Given the description of an element on the screen output the (x, y) to click on. 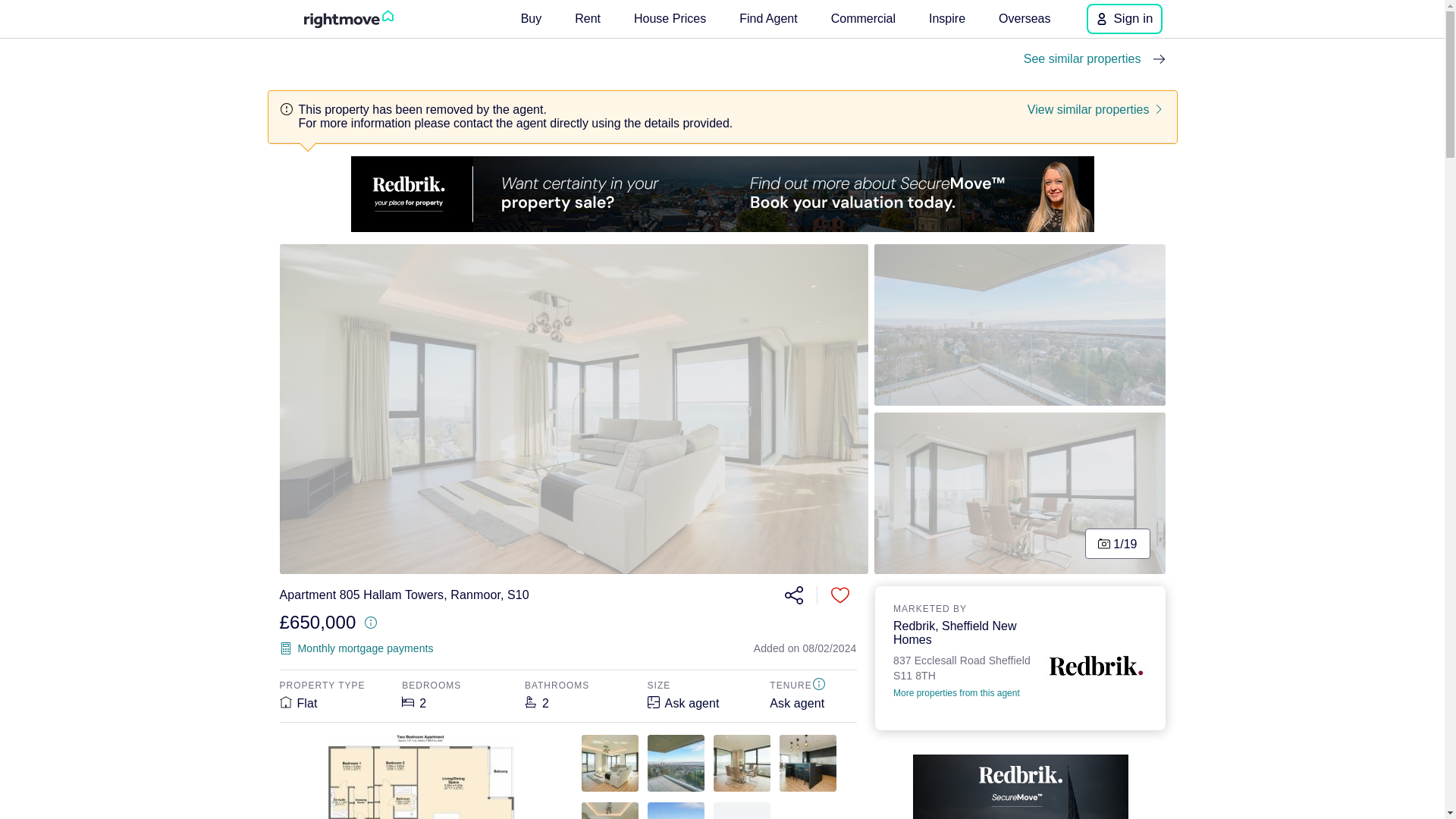
Inspire (947, 18)
Rent (588, 18)
Overseas (1024, 18)
Find Agent (768, 18)
Buy (531, 18)
Commercial (863, 18)
House Prices (669, 18)
